Given the description of an element on the screen output the (x, y) to click on. 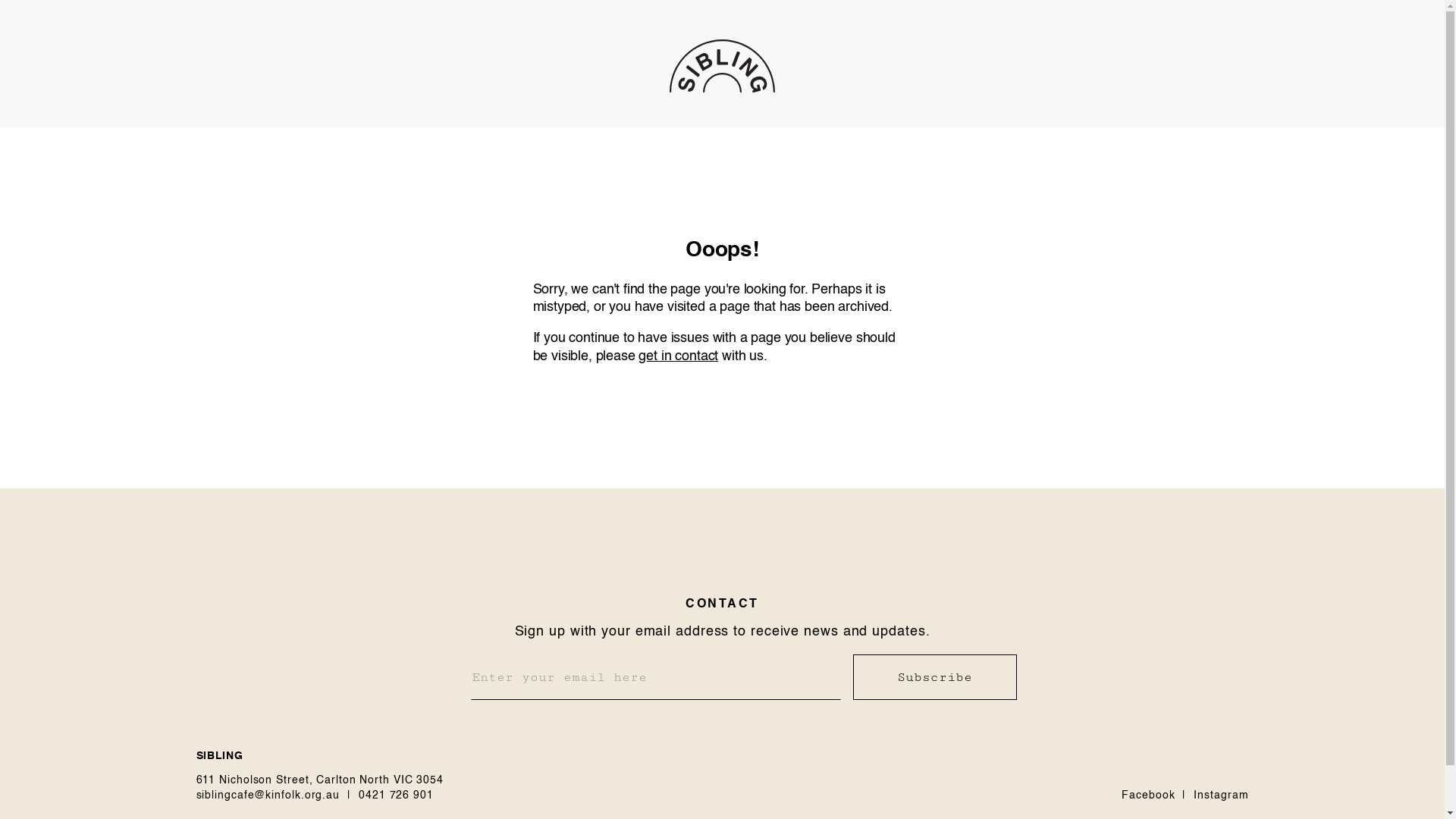
Facebook Element type: text (1147, 795)
get in contact Element type: text (678, 356)
0421 726 901 Element type: text (395, 795)
siblingcafe@kinfolk.org.au Element type: text (267, 795)
Subscribe Element type: text (934, 676)
Instagram Element type: text (1220, 795)
